Given the description of an element on the screen output the (x, y) to click on. 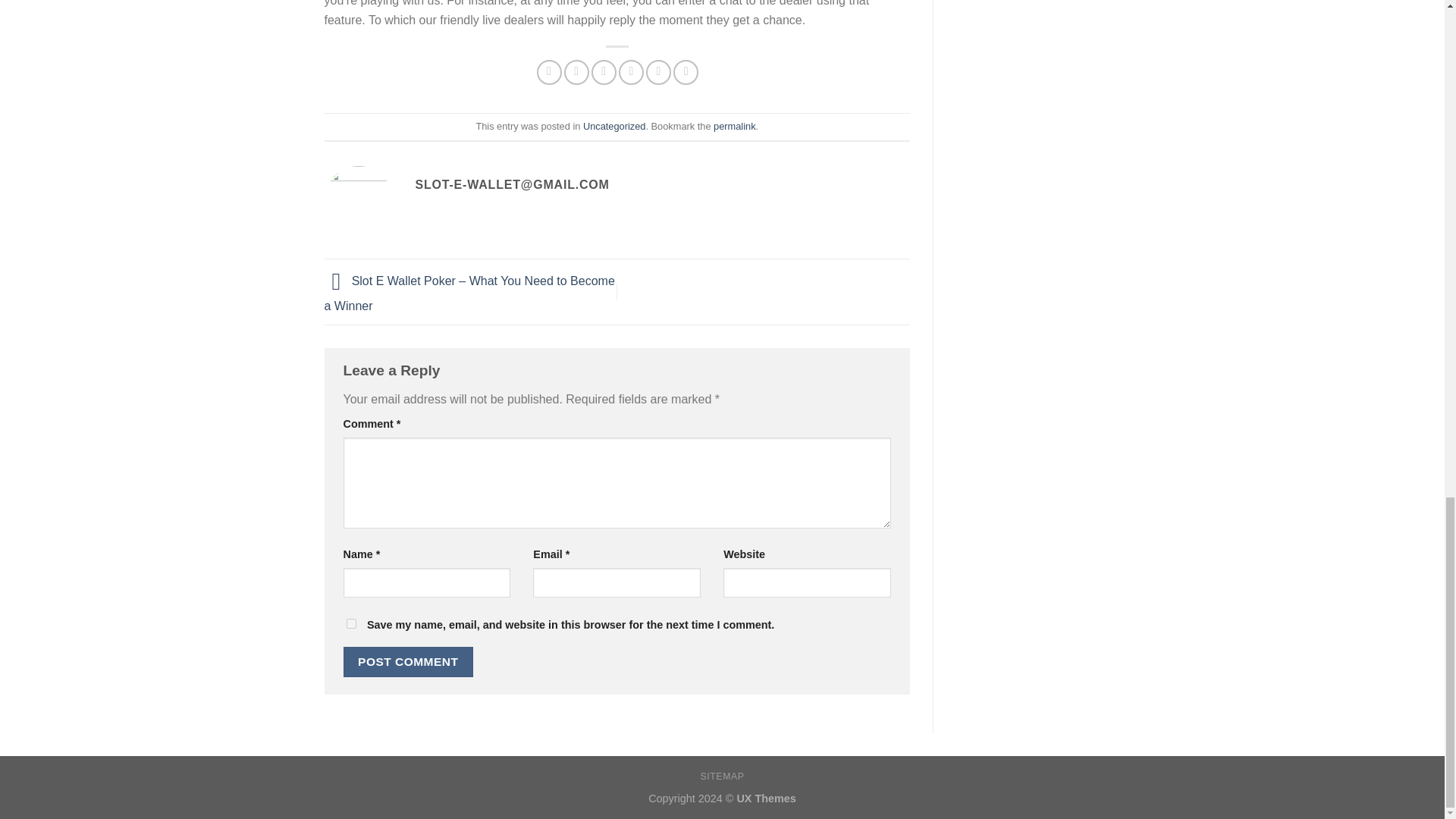
Post Comment (407, 661)
permalink (734, 125)
Post Comment (407, 661)
Uncategorized (614, 125)
yes (350, 623)
SITEMAP (722, 776)
